Given the description of an element on the screen output the (x, y) to click on. 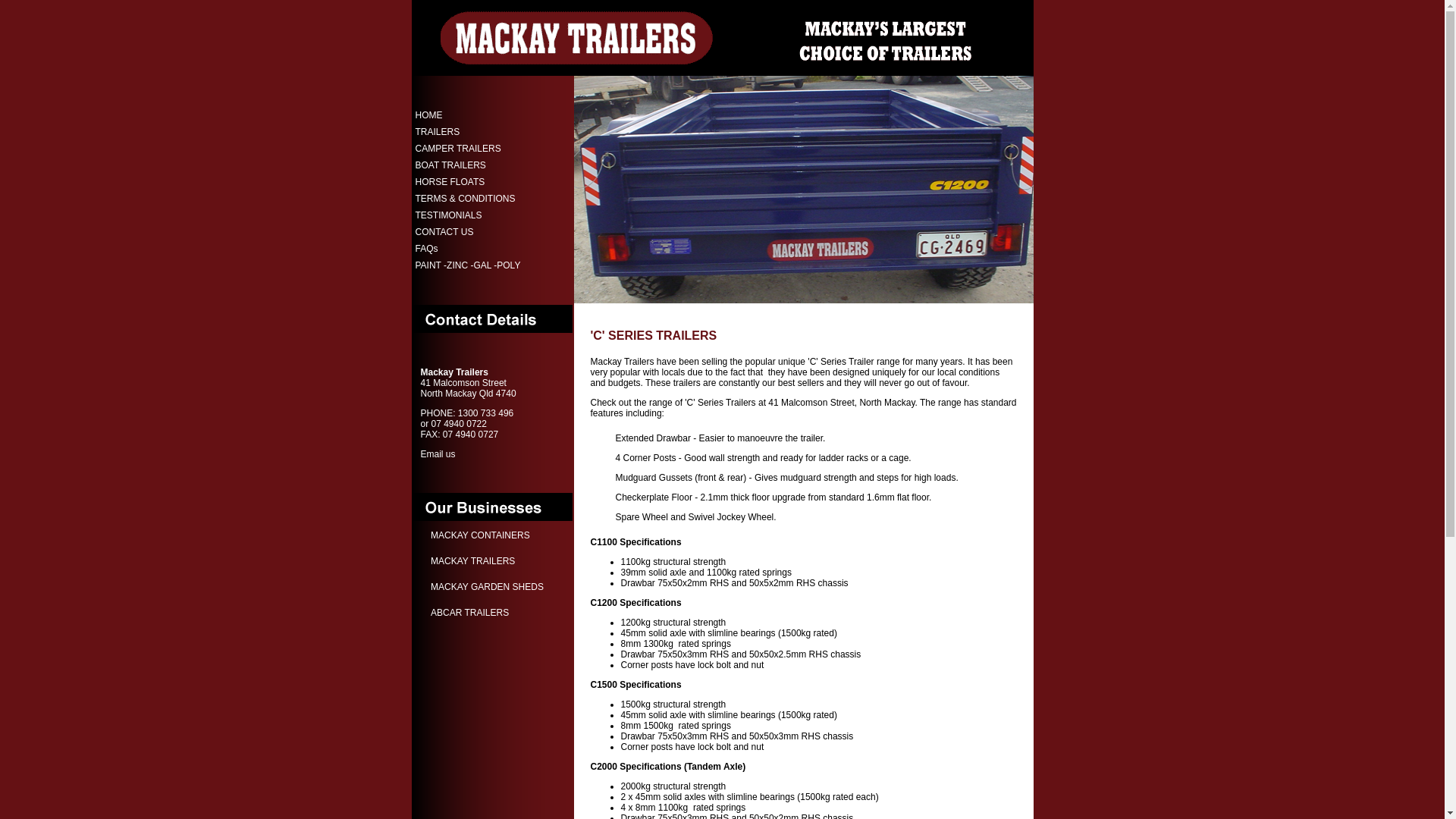
MACKAY CONTAINERS Element type: text (480, 535)
CONTACT US Element type: text (470, 230)
PAINT -ZINC -GAL -POLY Element type: text (470, 264)
MACKAY TRAILERS Element type: text (472, 560)
TESTIMONIALS Element type: text (470, 214)
CAMPER TRAILERS Element type: text (470, 147)
TRAILERS Element type: text (470, 130)
HORSE FLOATS Element type: text (470, 180)
HOME Element type: text (470, 114)
FAQs Element type: text (470, 247)
TERMS & CONDITIONS Element type: text (470, 197)
MACKAY GARDEN SHEDS Element type: text (486, 586)
BOAT TRAILERS Element type: text (470, 164)
ABCAR TRAILERS Element type: text (469, 612)
Email us Element type: text (437, 453)
